Given the description of an element on the screen output the (x, y) to click on. 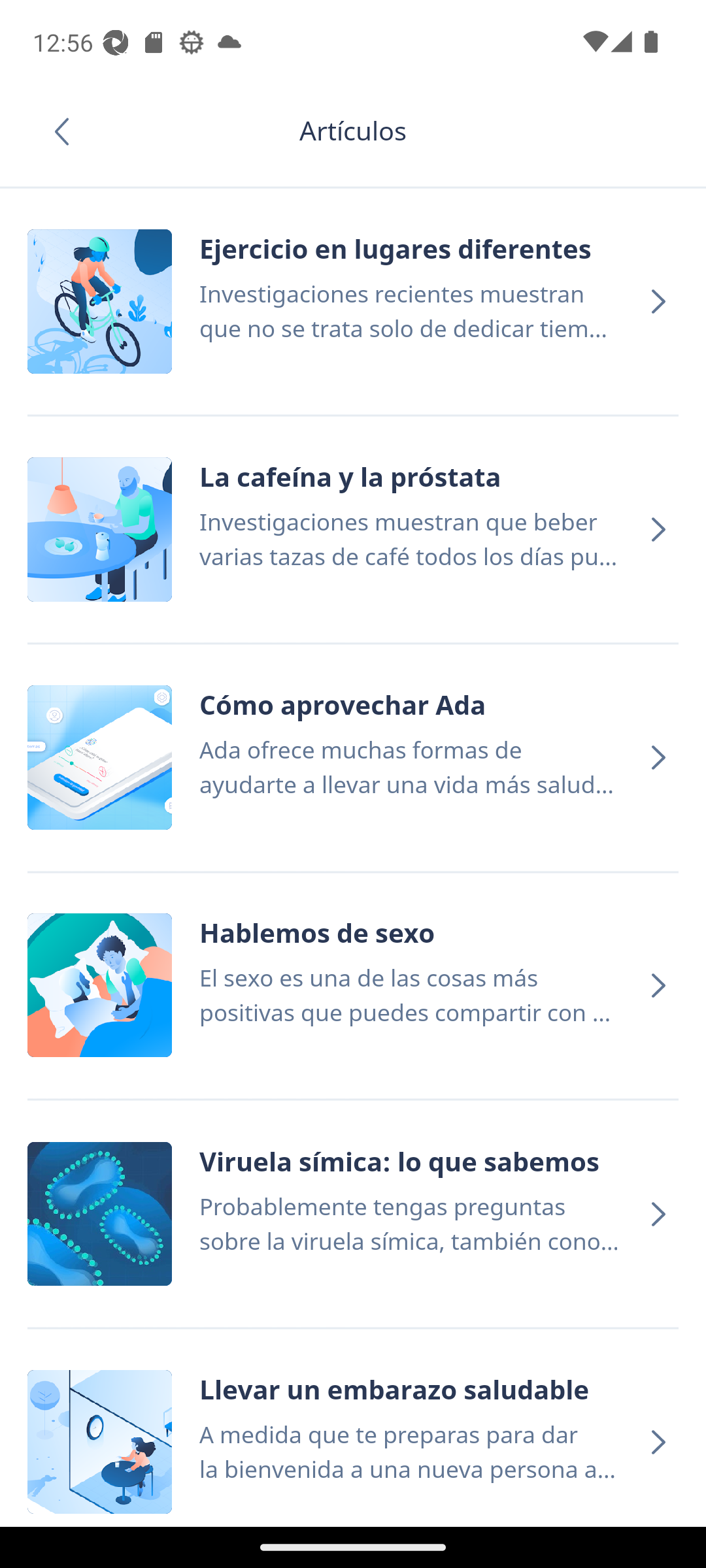
Go back, Navigates to the previous screen (68, 131)
